Given the description of an element on the screen output the (x, y) to click on. 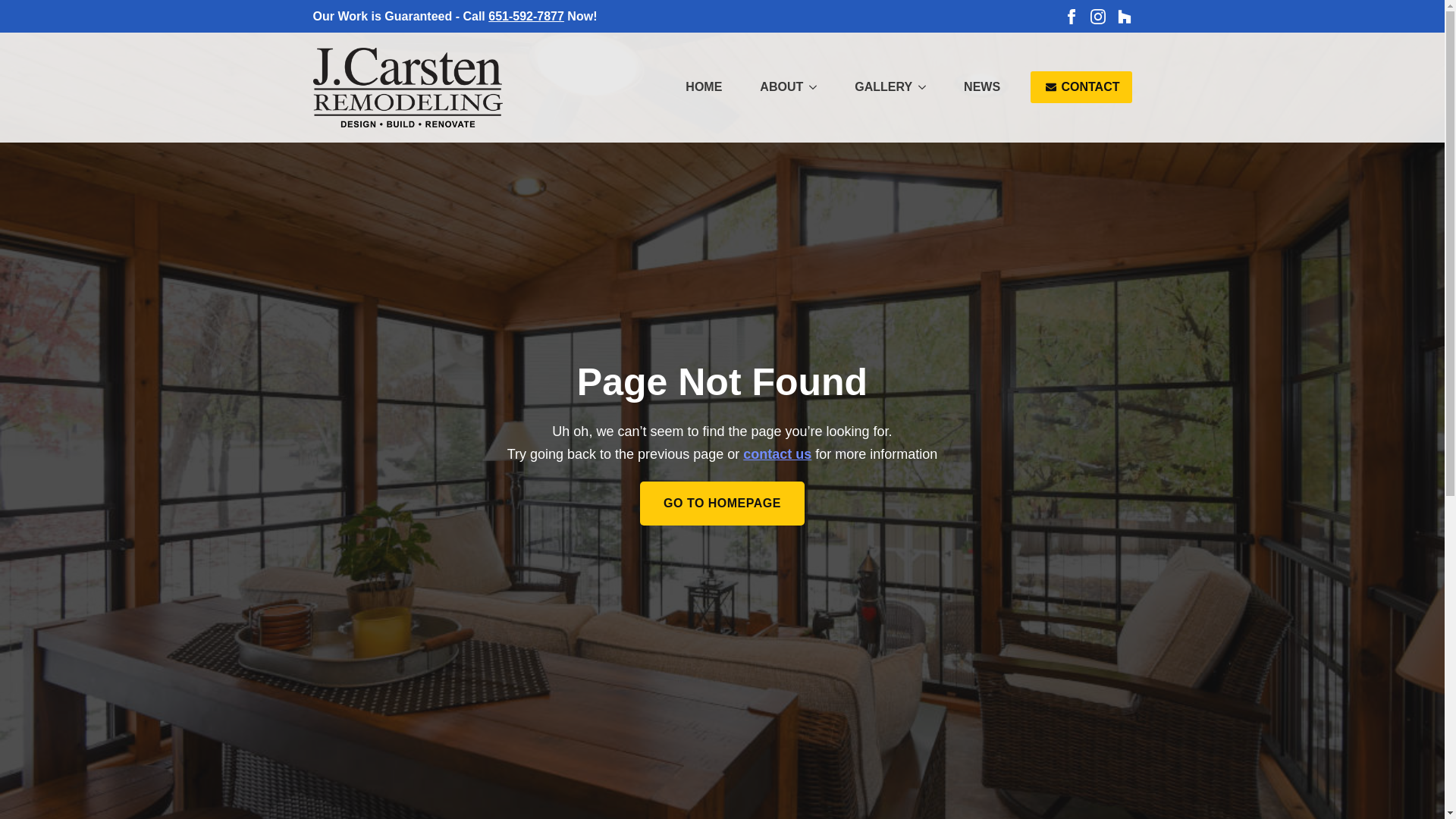
contact us (776, 453)
651-592-7877 (525, 15)
CONTACT (1080, 87)
GALLERY (876, 87)
NEWS (981, 87)
Help Center (776, 453)
ABOUT (773, 87)
GO TO HOMEPAGE (722, 503)
HOME (702, 87)
